Given the description of an element on the screen output the (x, y) to click on. 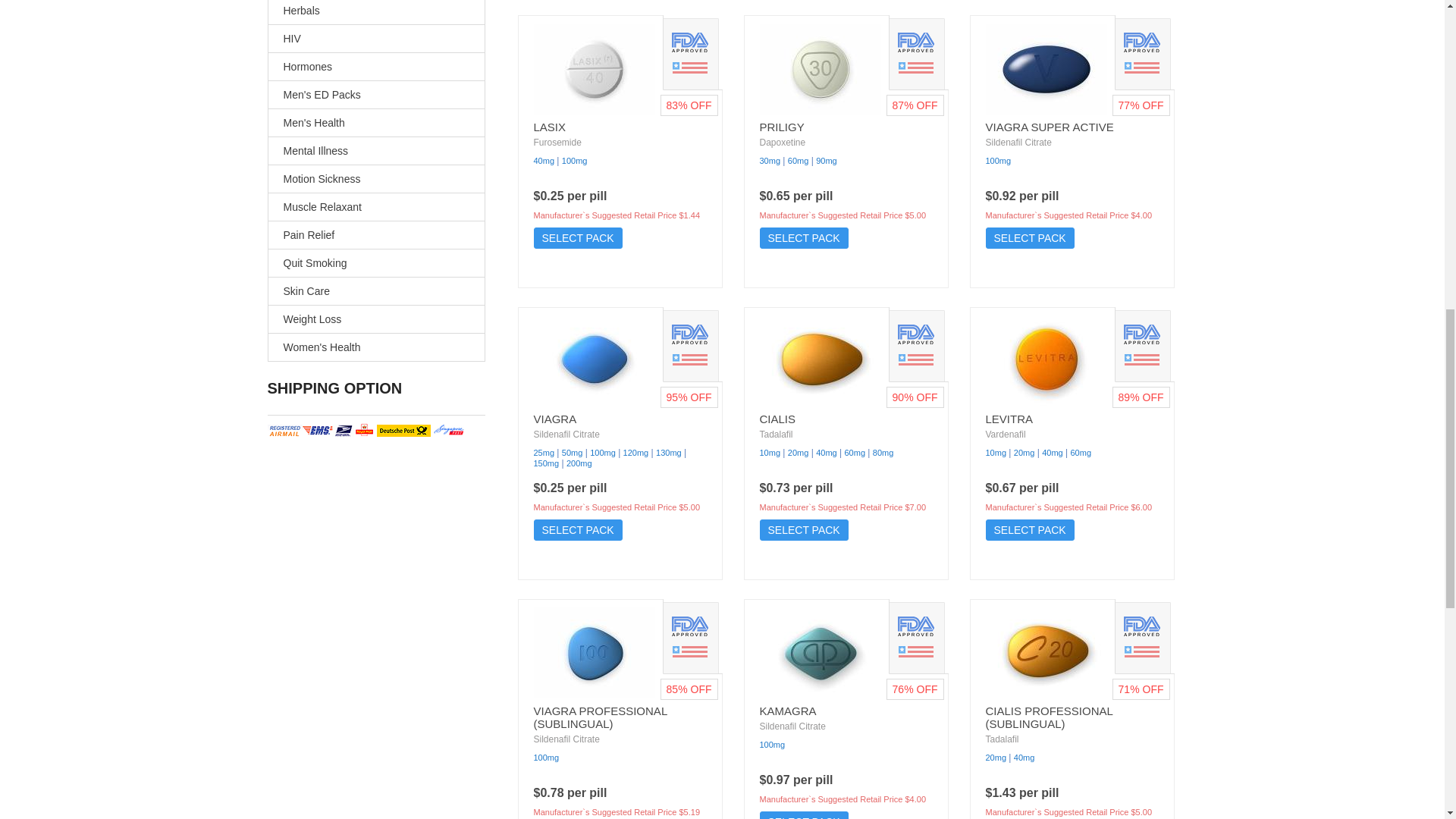
Lasix (594, 68)
Furosemide (557, 142)
